Given the description of an element on the screen output the (x, y) to click on. 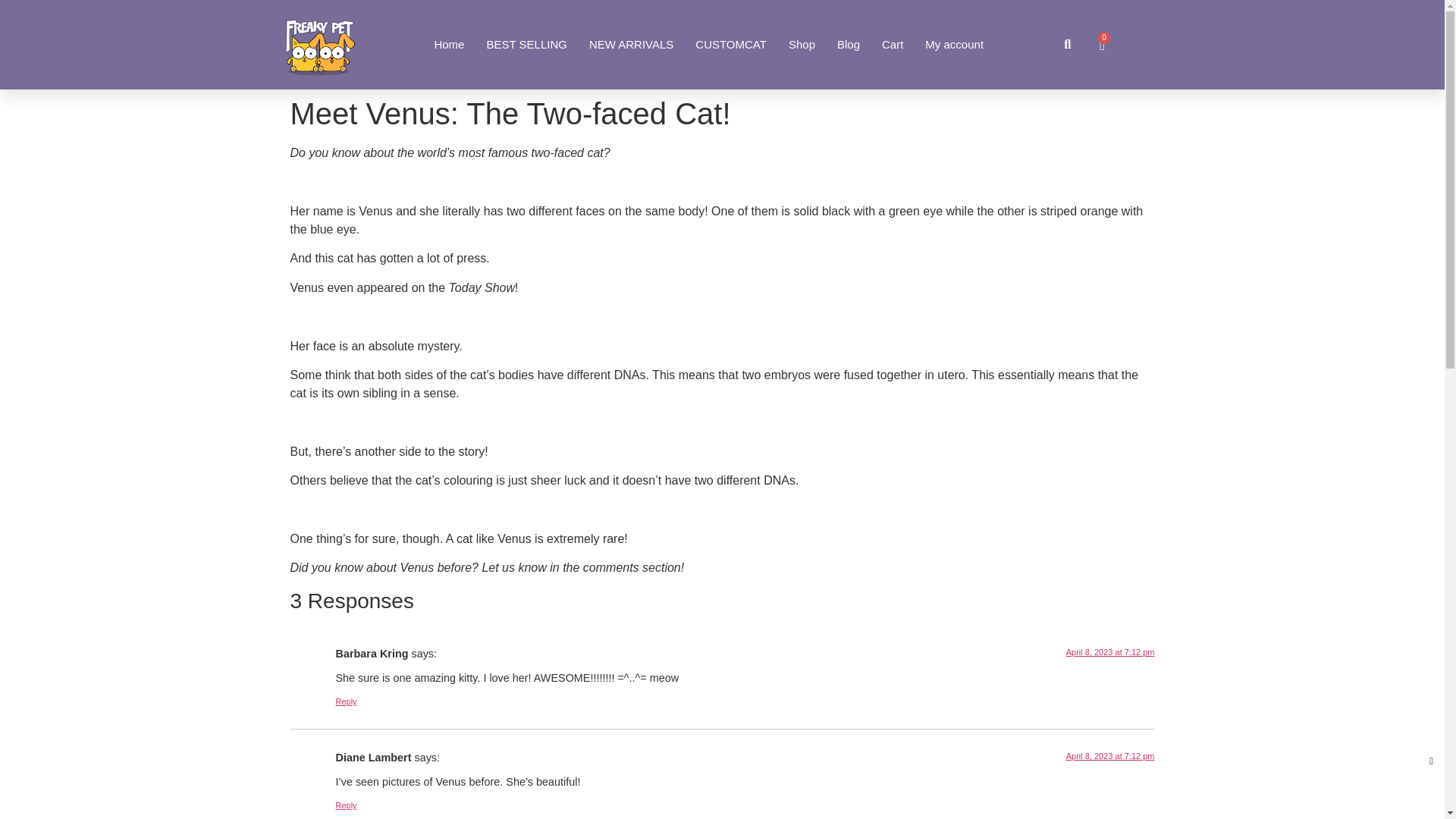
Shop (802, 44)
NEW ARRIVALS (630, 44)
CUSTOMCAT (731, 44)
My account (954, 44)
Home (448, 44)
BEST SELLING (526, 44)
